Given the description of an element on the screen output the (x, y) to click on. 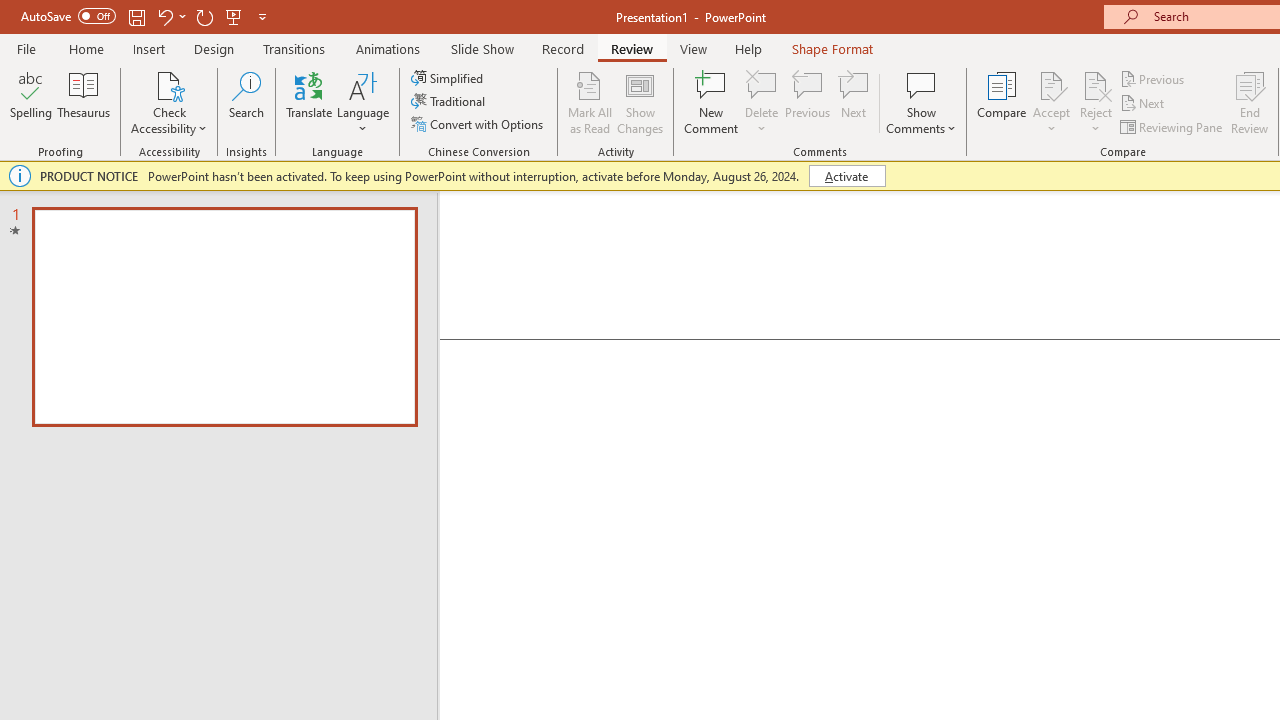
Reject Change (1096, 84)
End Review (1249, 102)
Convert with Options... (479, 124)
Accept (1051, 102)
Translate (309, 102)
Show Changes (639, 102)
Previous (1153, 78)
